Given the description of an element on the screen output the (x, y) to click on. 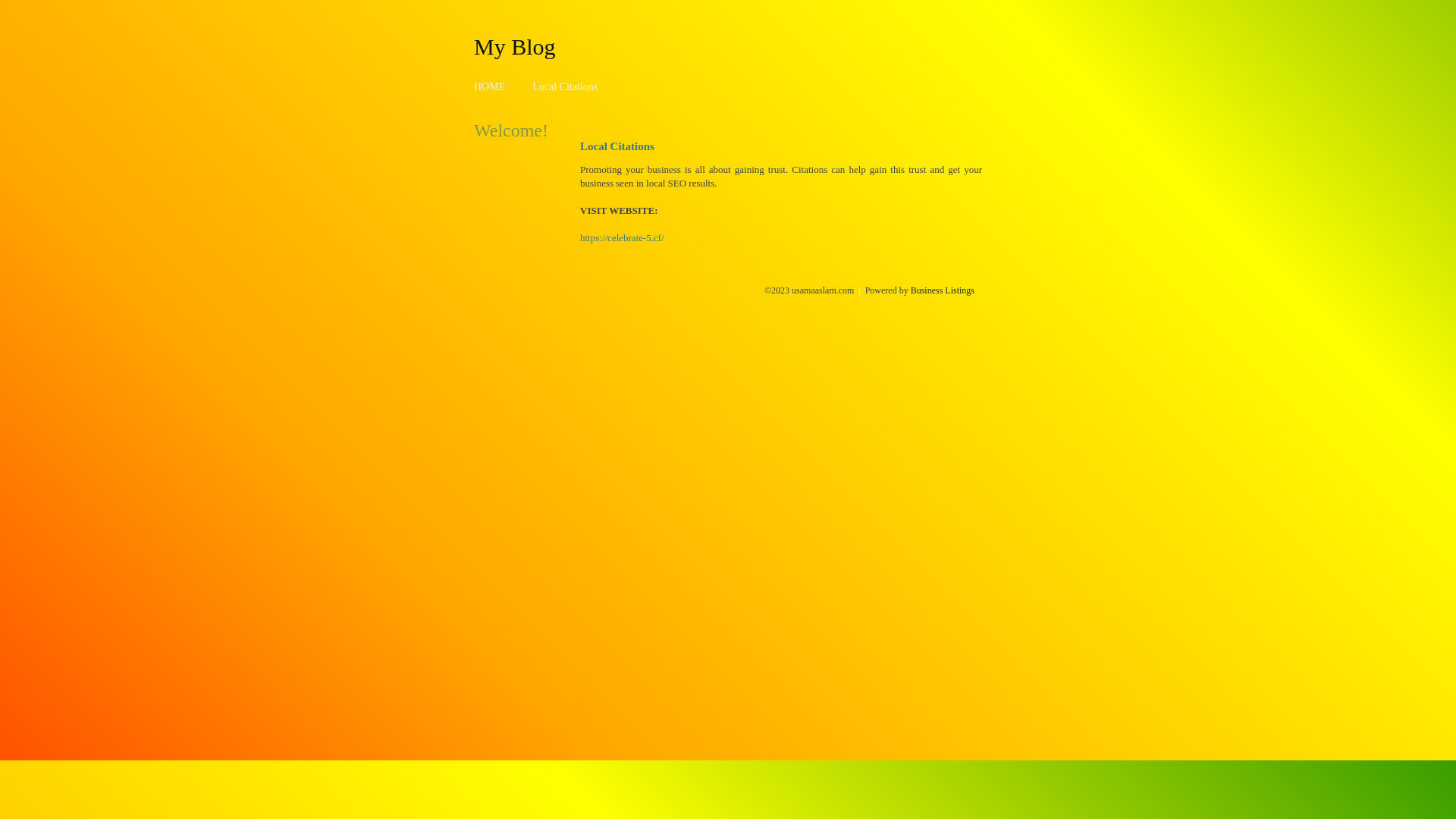
https://celebrate-5.cf/ Element type: text (622, 237)
My Blog Element type: text (514, 46)
Business Listings Element type: text (942, 290)
HOME Element type: text (489, 86)
Local Citations Element type: text (564, 86)
